Given the description of an element on the screen output the (x, y) to click on. 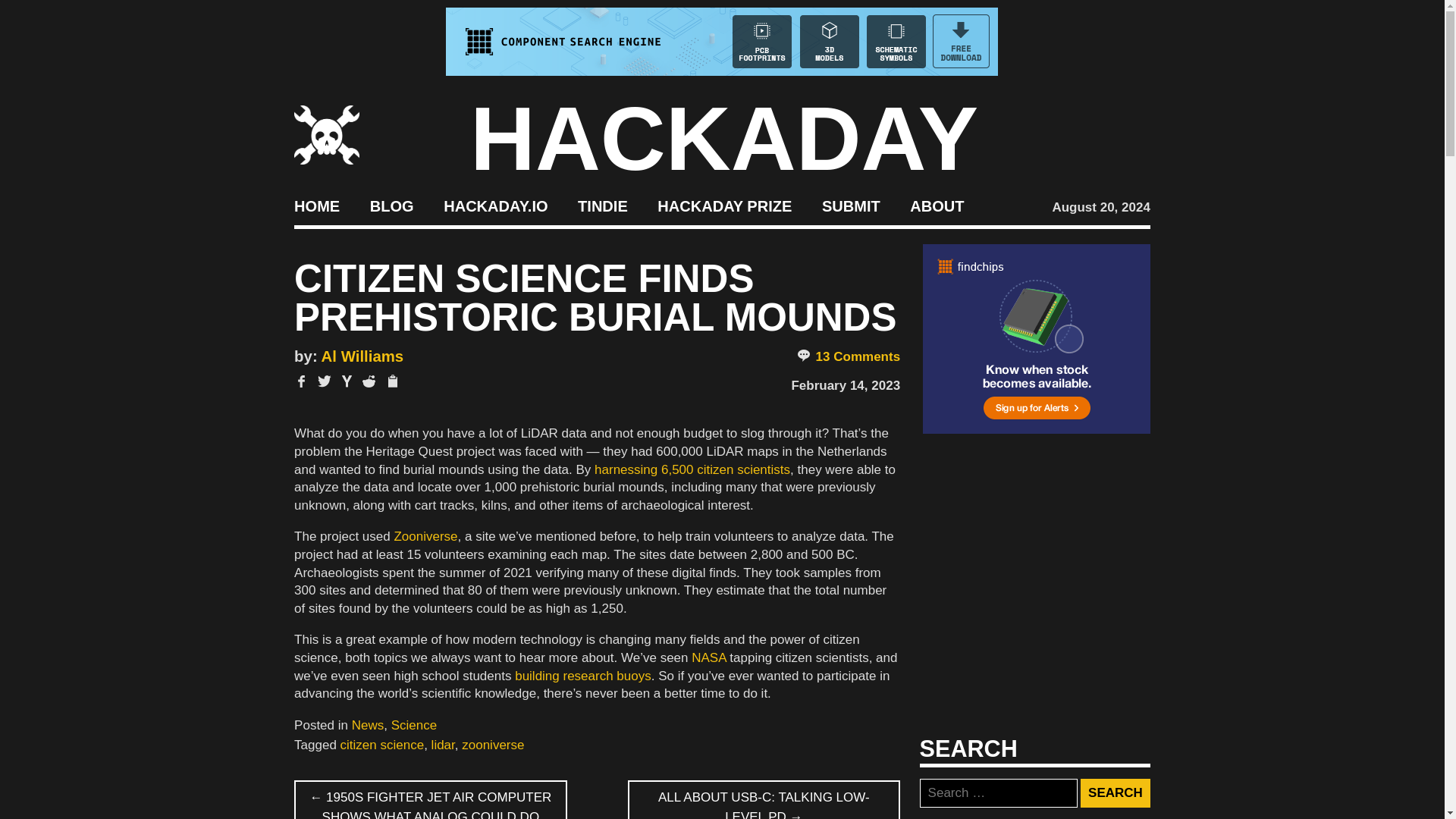
Share on Reddit (369, 381)
HOME (316, 205)
Posts by Al Williams (362, 356)
lidar (442, 744)
Search (1115, 792)
zooniverse (492, 744)
Build Something that Matters (725, 205)
Share on Twitter (324, 381)
citizen science (382, 744)
SUBMIT (851, 205)
